Given the description of an element on the screen output the (x, y) to click on. 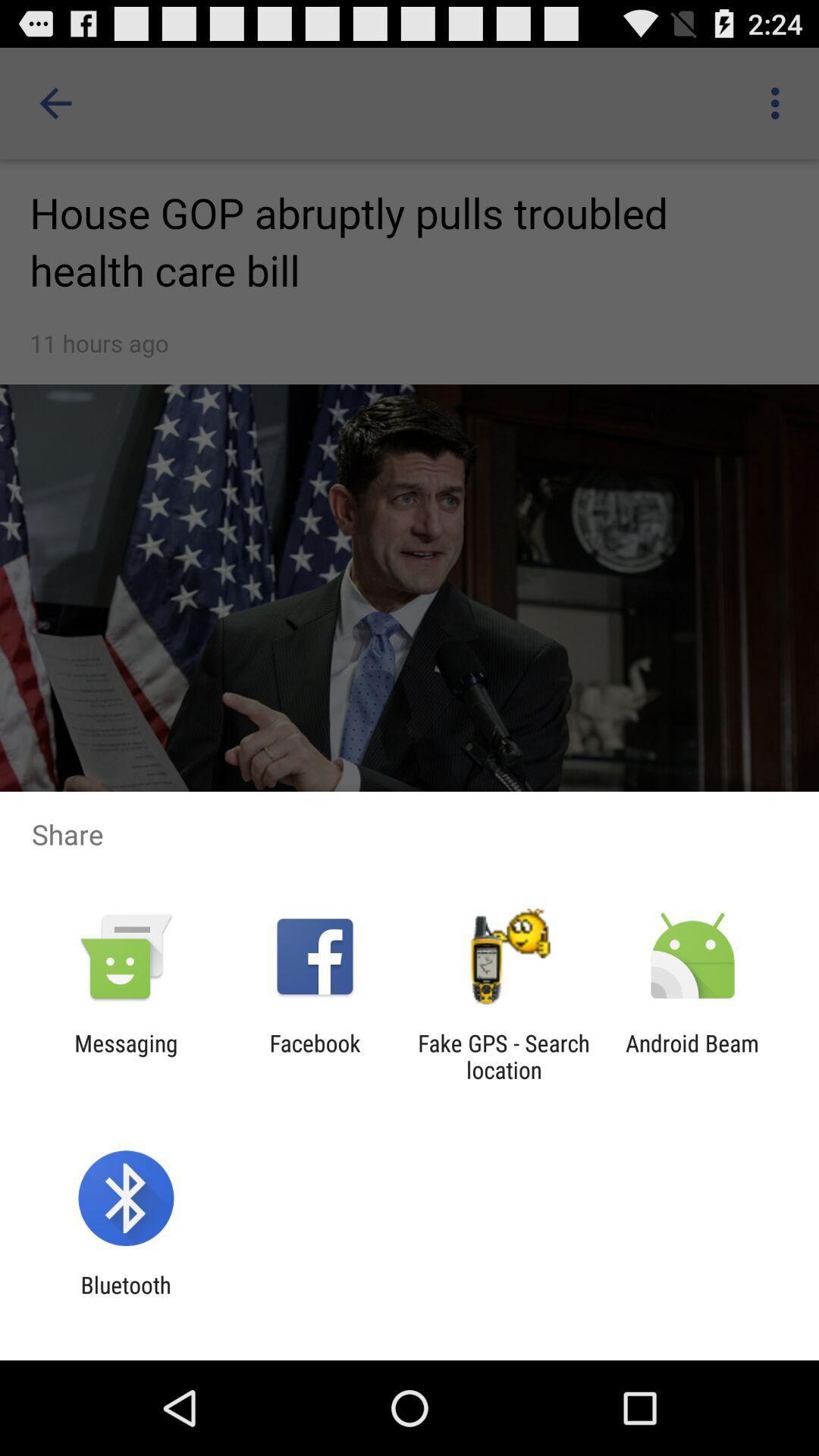
turn on messaging item (126, 1056)
